Given the description of an element on the screen output the (x, y) to click on. 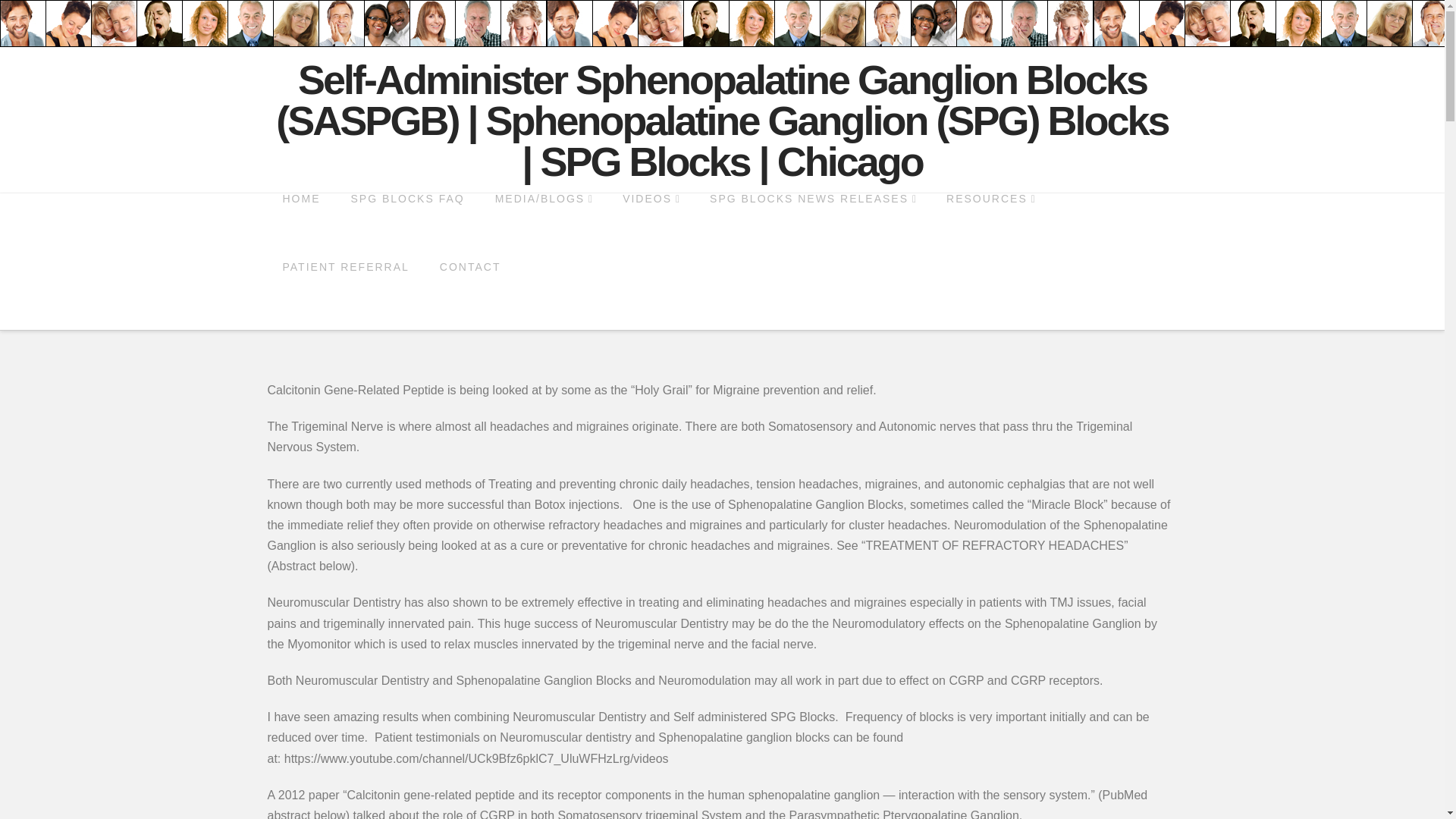
SPG BLOCKS FAQ (406, 227)
SPG Blocks News Releases (812, 227)
SPG Blocks FAQ (406, 227)
RESOURCES (990, 227)
VIDEOS (650, 227)
SPG Blocks Videos (650, 227)
CONTACT (470, 295)
PATIENT REFERRAL (344, 295)
Dr. Ira L. Shapira (721, 119)
HOME (300, 227)
SPG BLOCKS NEWS RELEASES (812, 227)
